Given the description of an element on the screen output the (x, y) to click on. 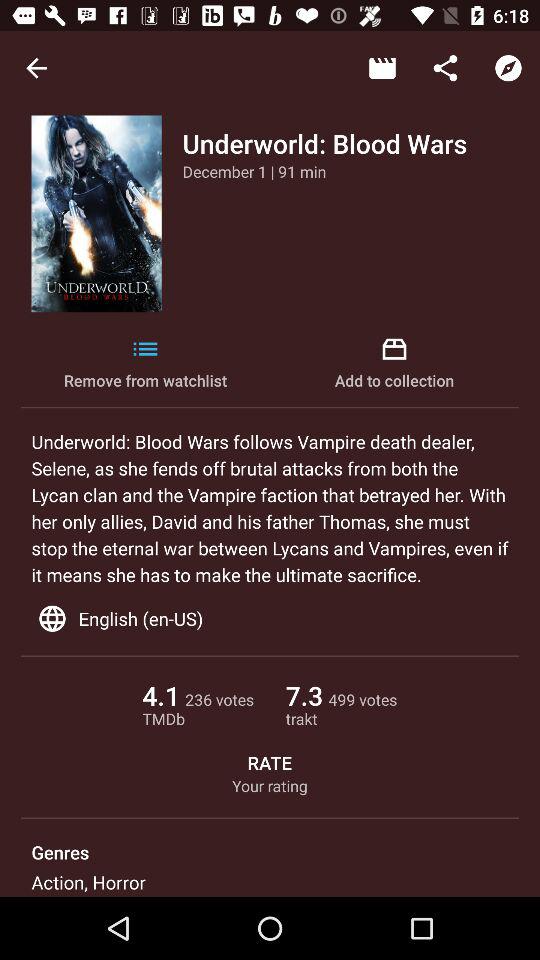
turn on the icon above remove from watchlist (254, 171)
